Given the description of an element on the screen output the (x, y) to click on. 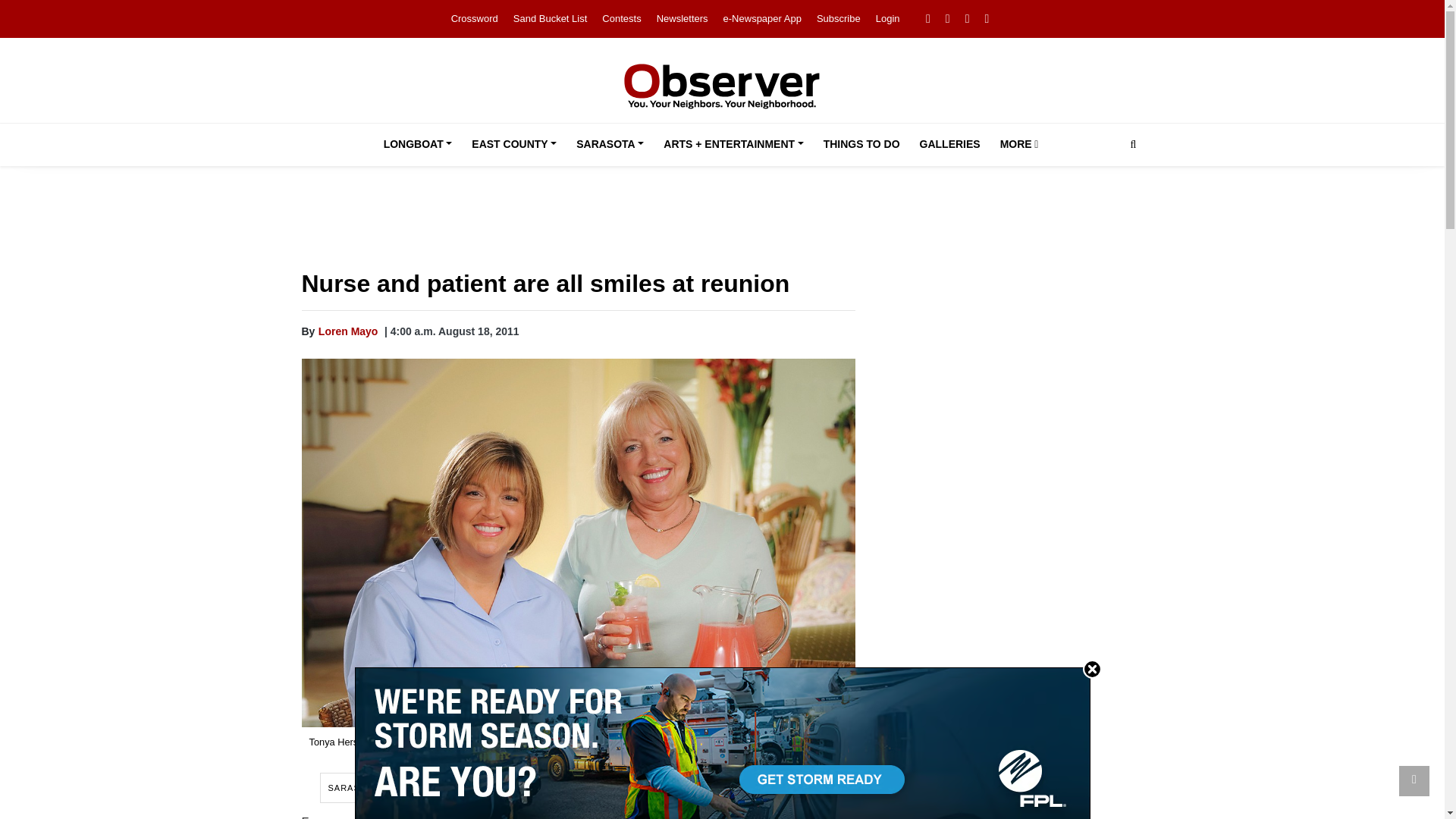
3rd party ad content (722, 221)
Contests (621, 18)
Newsletters (681, 18)
LONGBOAT (417, 144)
Crossword (474, 18)
e-Newspaper App (762, 18)
Subscribe (838, 18)
Sand Bucket List (550, 18)
3rd party ad content (1010, 762)
Login (887, 18)
SARASOTA (609, 144)
EAST COUNTY (514, 144)
3rd party ad content (1010, 375)
3rd party ad content (1010, 587)
